Given the description of an element on the screen output the (x, y) to click on. 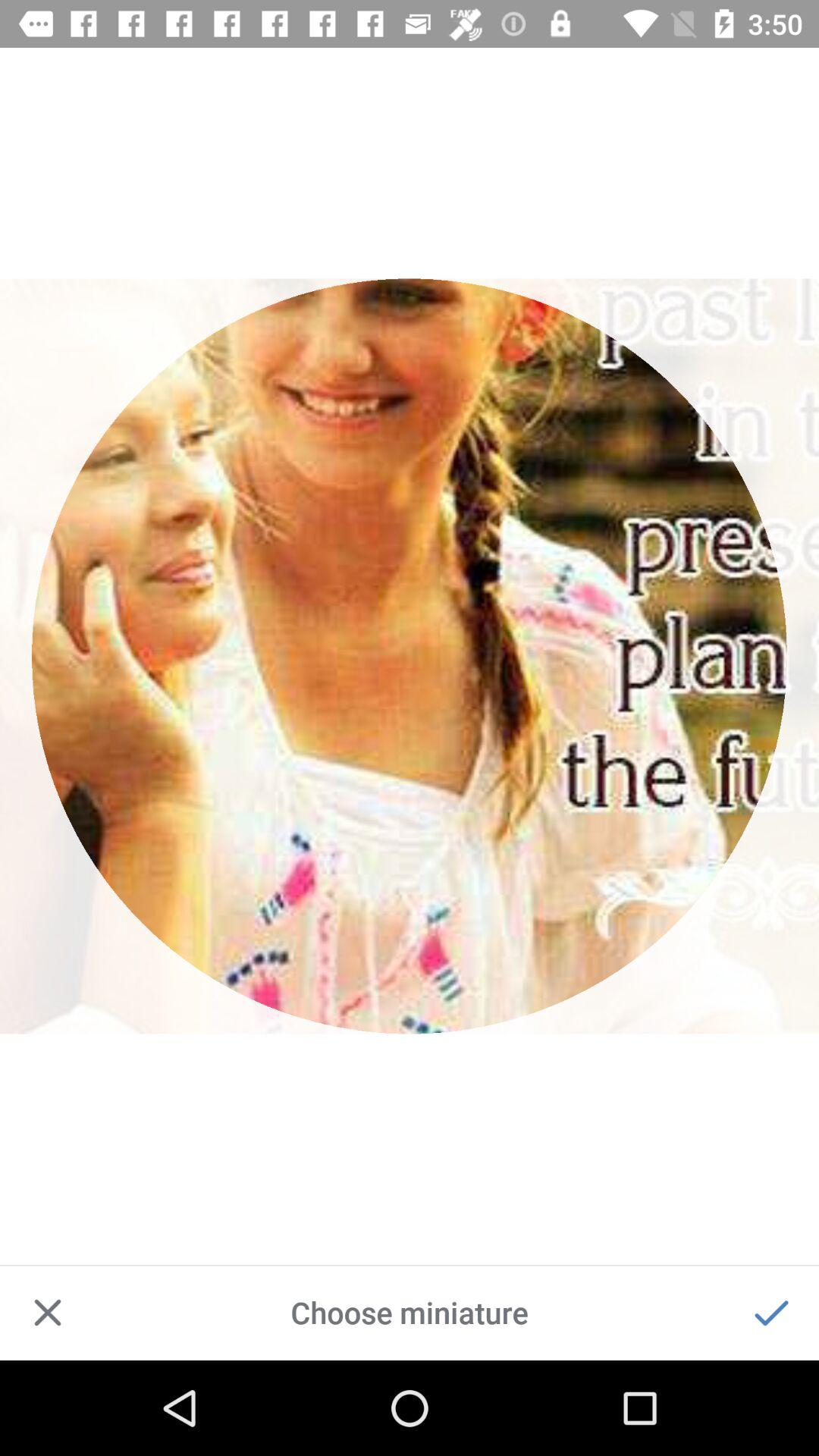
accept (771, 1312)
